Given the description of an element on the screen output the (x, y) to click on. 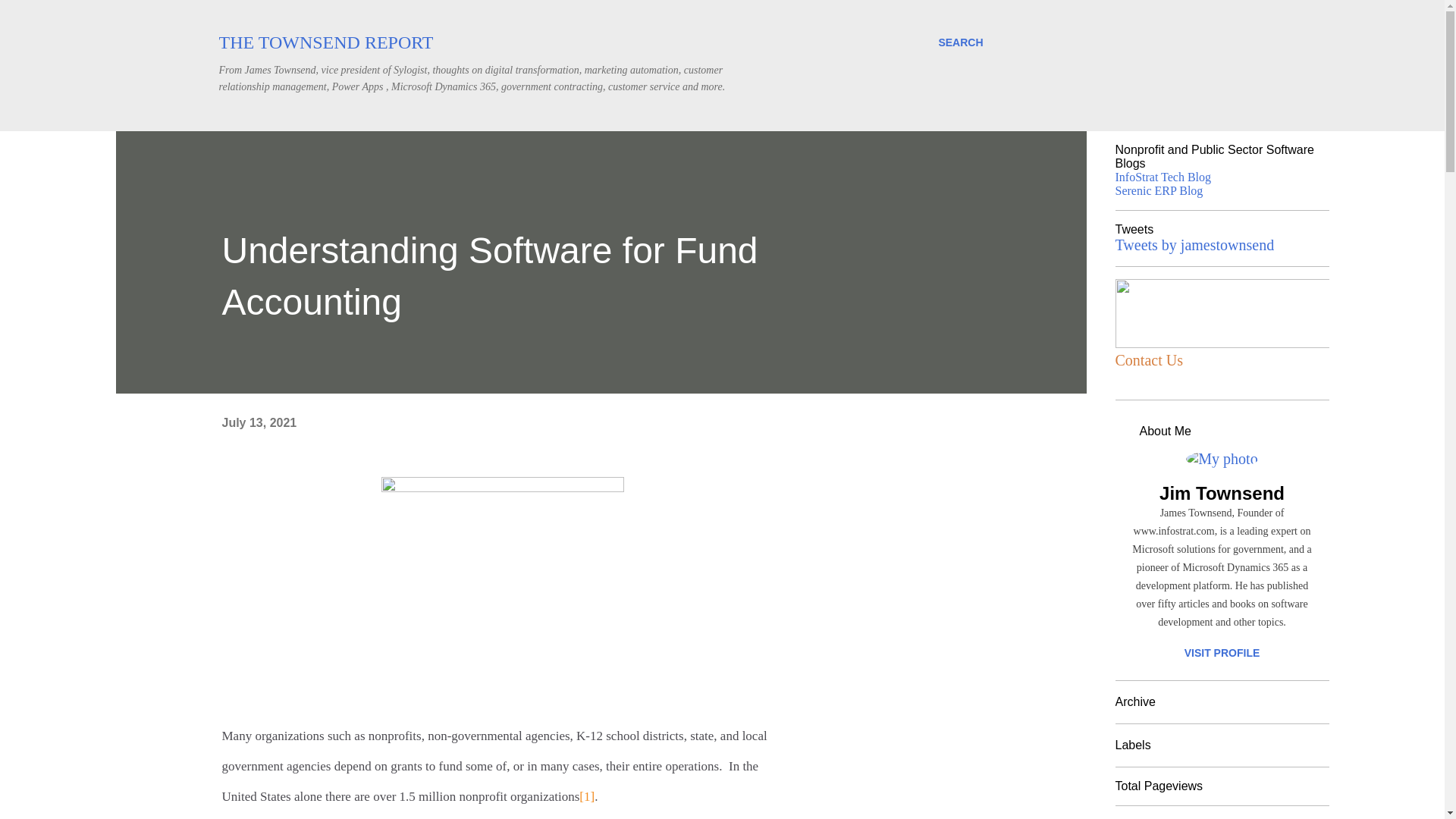
Serenic ERP Blog (1158, 190)
SEARCH (959, 42)
THE TOWNSEND REPORT (325, 42)
permanent link (259, 422)
July 13, 2021 (259, 422)
InfoStrat Tech Blog (1163, 176)
